Given the description of an element on the screen output the (x, y) to click on. 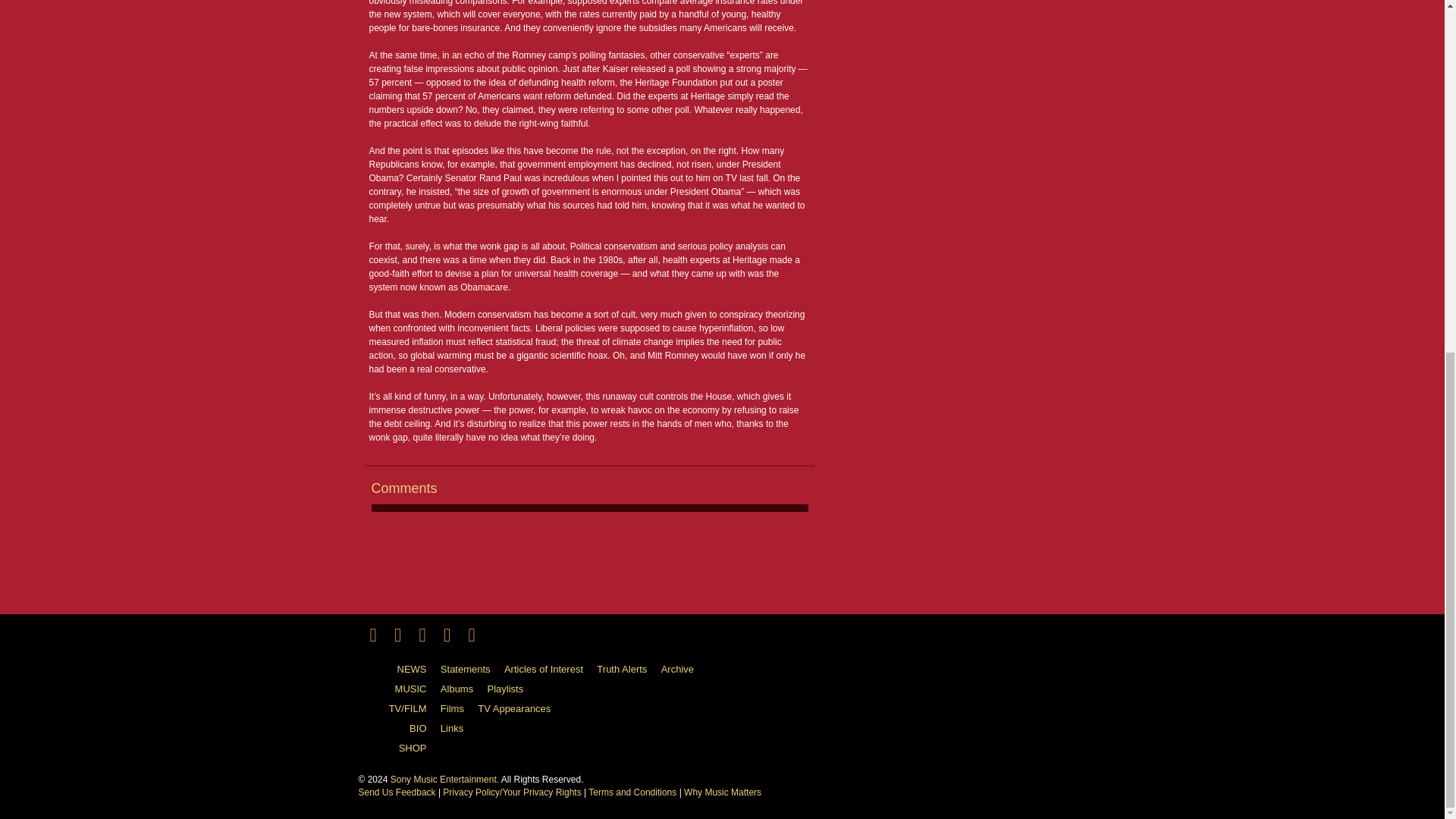
NEWS (398, 669)
Statements (471, 669)
MUSIC (398, 689)
Albums (462, 689)
Archive (682, 669)
Truth Alerts (627, 669)
Articles of Interest (548, 669)
Playlists (511, 689)
